Given the description of an element on the screen output the (x, y) to click on. 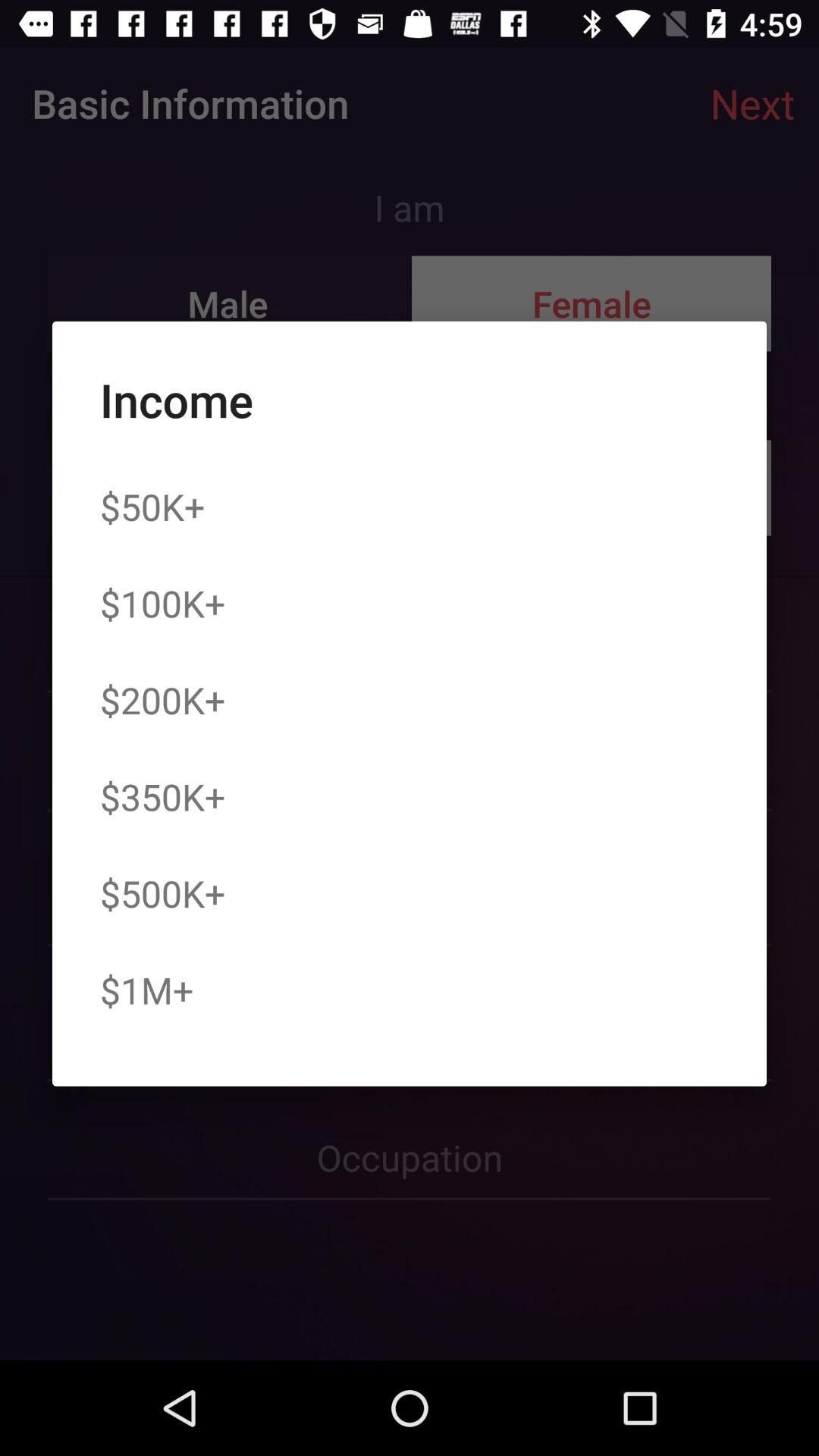
click the icon above $200k+ icon (162, 603)
